Given the description of an element on the screen output the (x, y) to click on. 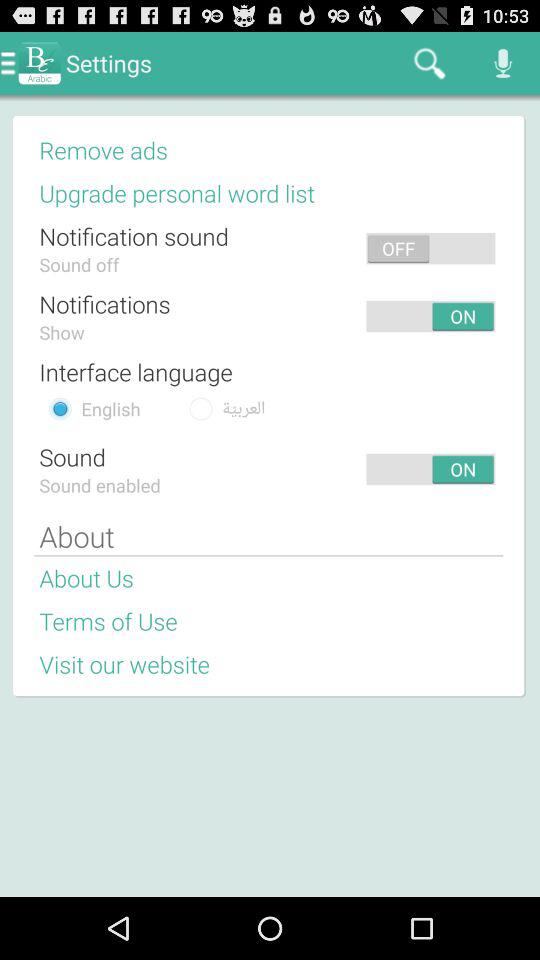
choose english language (60, 408)
